Given the description of an element on the screen output the (x, y) to click on. 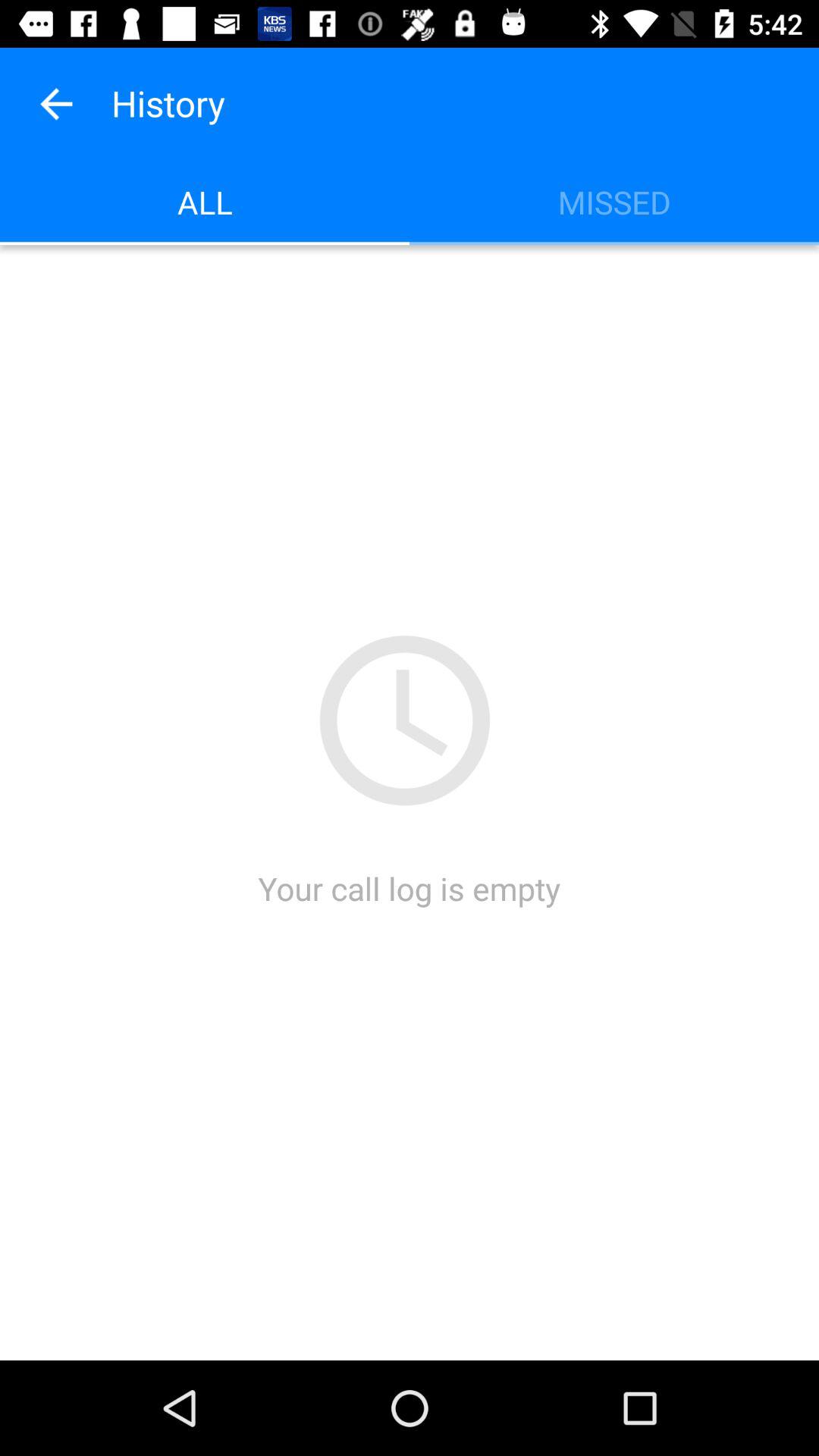
launch item to the left of missed (204, 202)
